Given the description of an element on the screen output the (x, y) to click on. 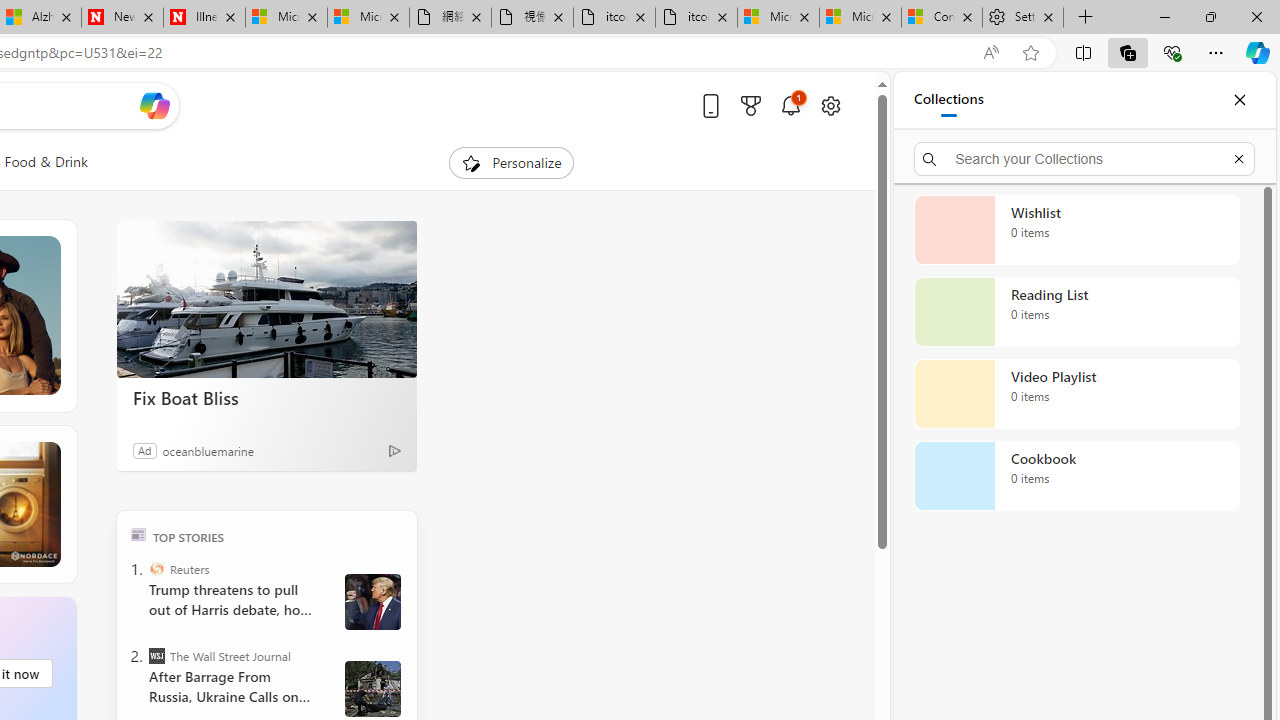
Exit search (1238, 158)
Reading List collection, 0 items (1076, 312)
Search your Collections (1084, 158)
Cookbook collection, 0 items (1076, 475)
